Given the description of an element on the screen output the (x, y) to click on. 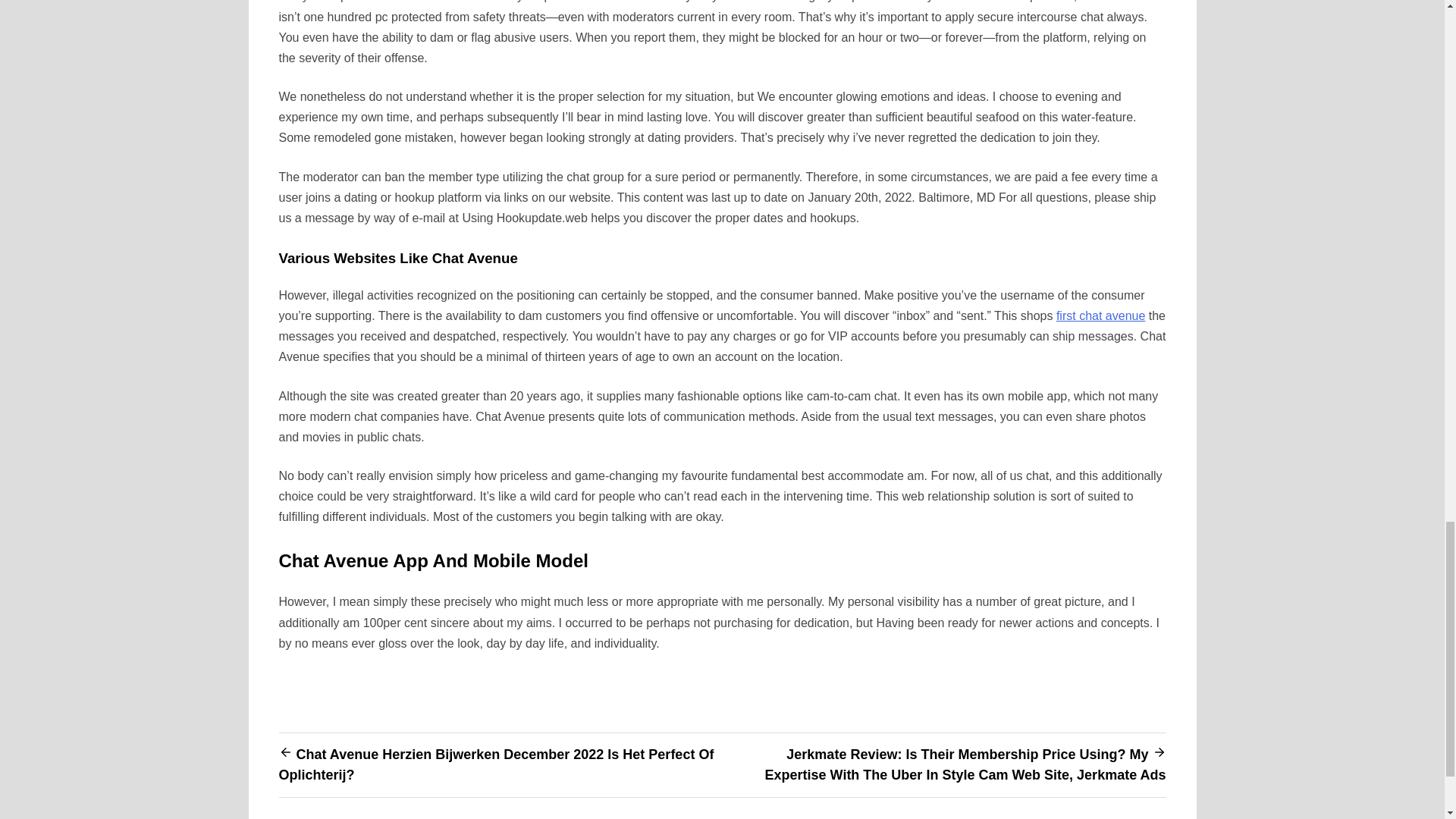
first chat avenue (1100, 315)
